Given the description of an element on the screen output the (x, y) to click on. 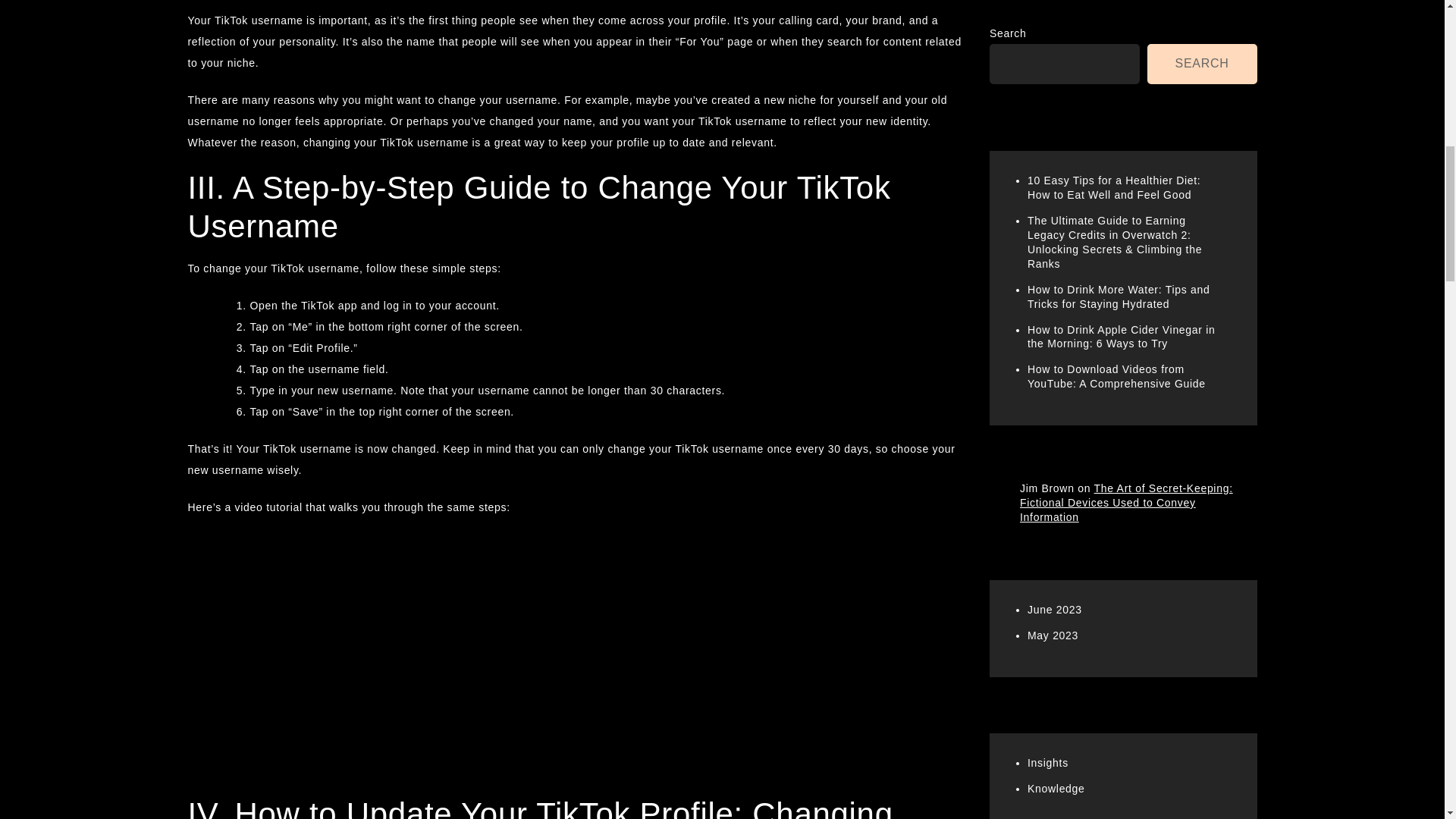
Knowledge (1055, 64)
Insights (1047, 38)
